Given the description of an element on the screen output the (x, y) to click on. 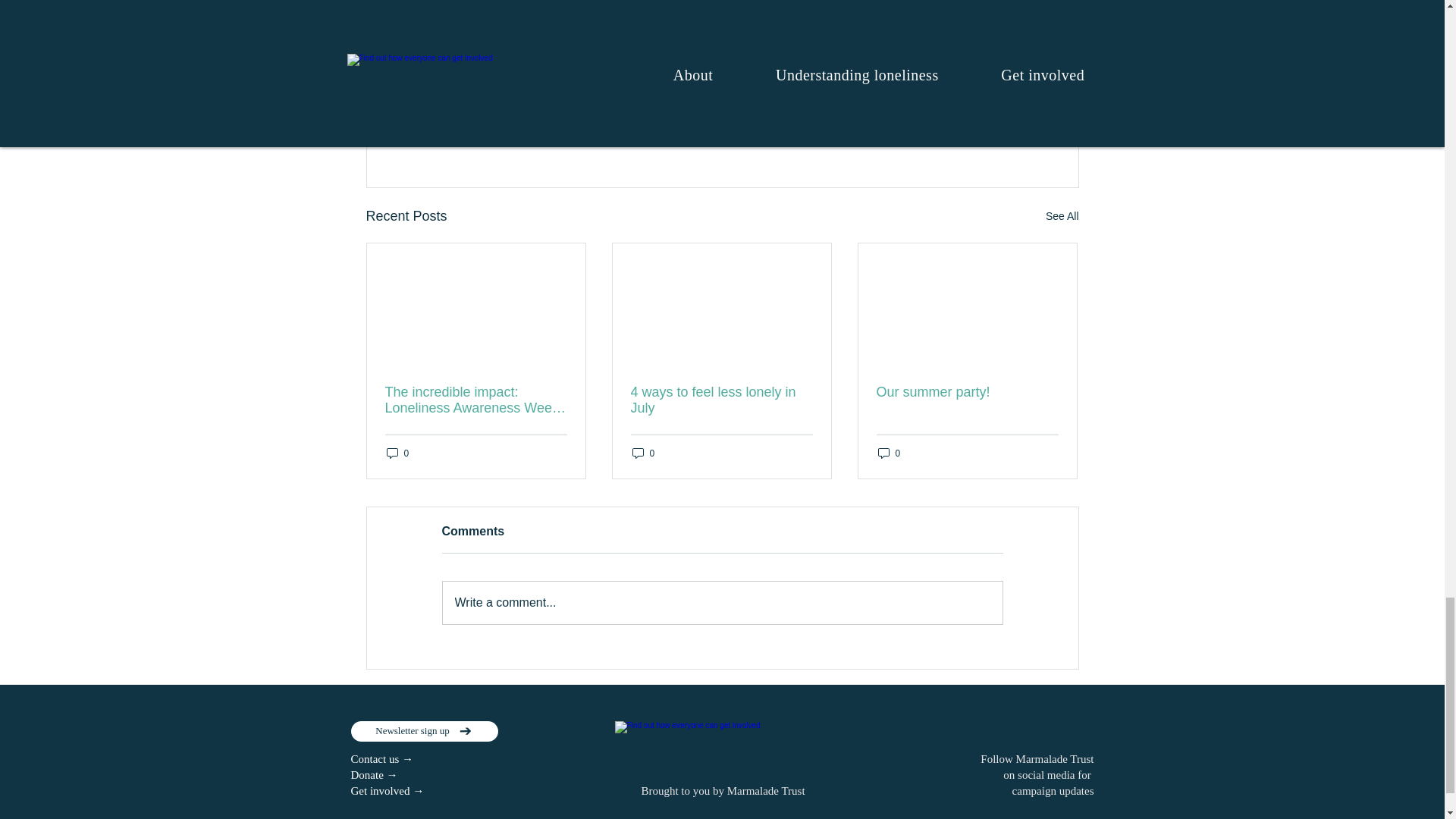
0 (643, 452)
4 ways to feel less lonely in July (721, 400)
Our summer party! (967, 392)
0 (397, 452)
The incredible impact: Loneliness Awareness Week 2024 (476, 400)
See All (1061, 216)
